Given the description of an element on the screen output the (x, y) to click on. 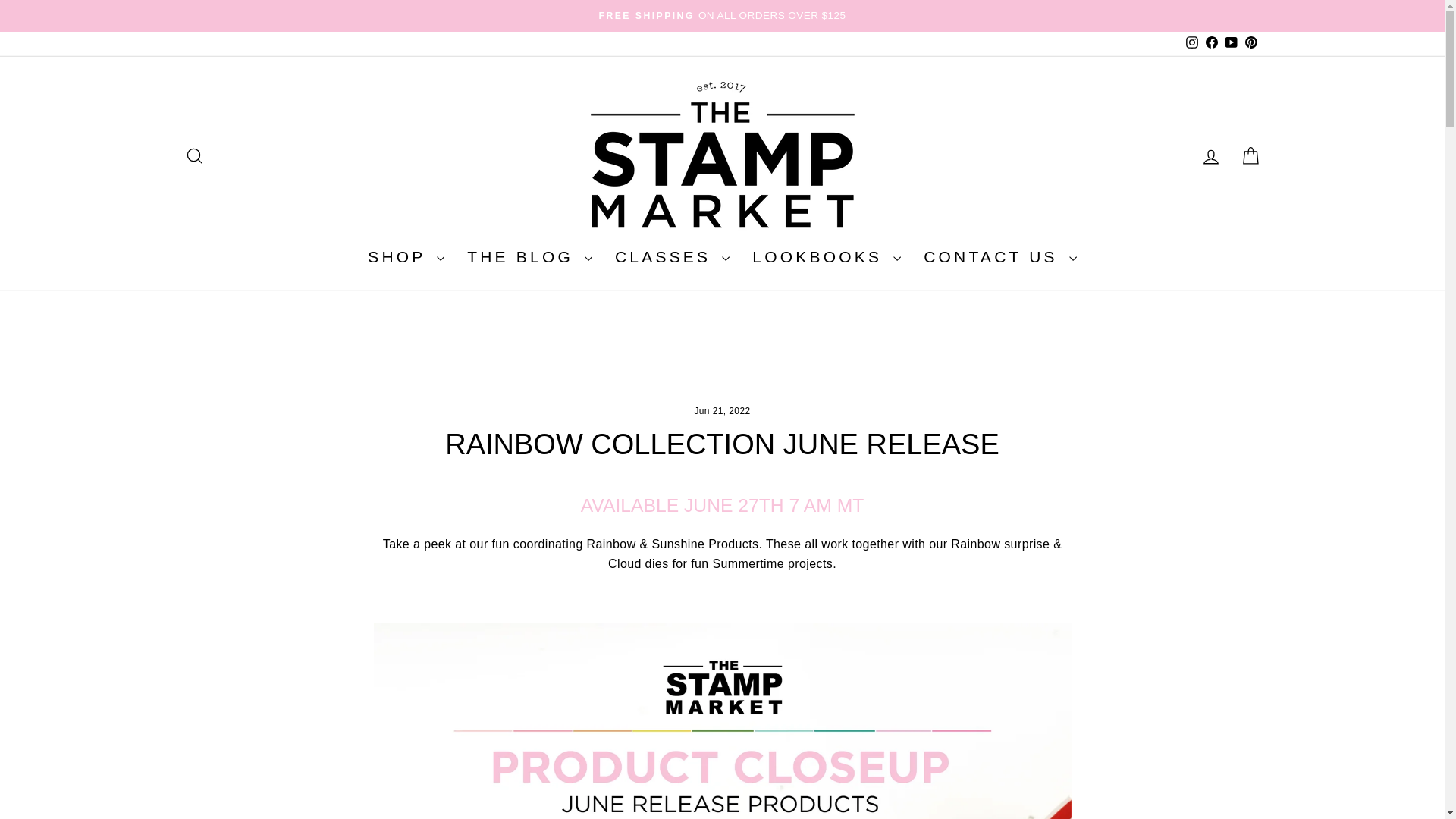
instagram (1192, 42)
ICON-SEARCH (194, 156)
ACCOUNT (1210, 156)
